Given the description of an element on the screen output the (x, y) to click on. 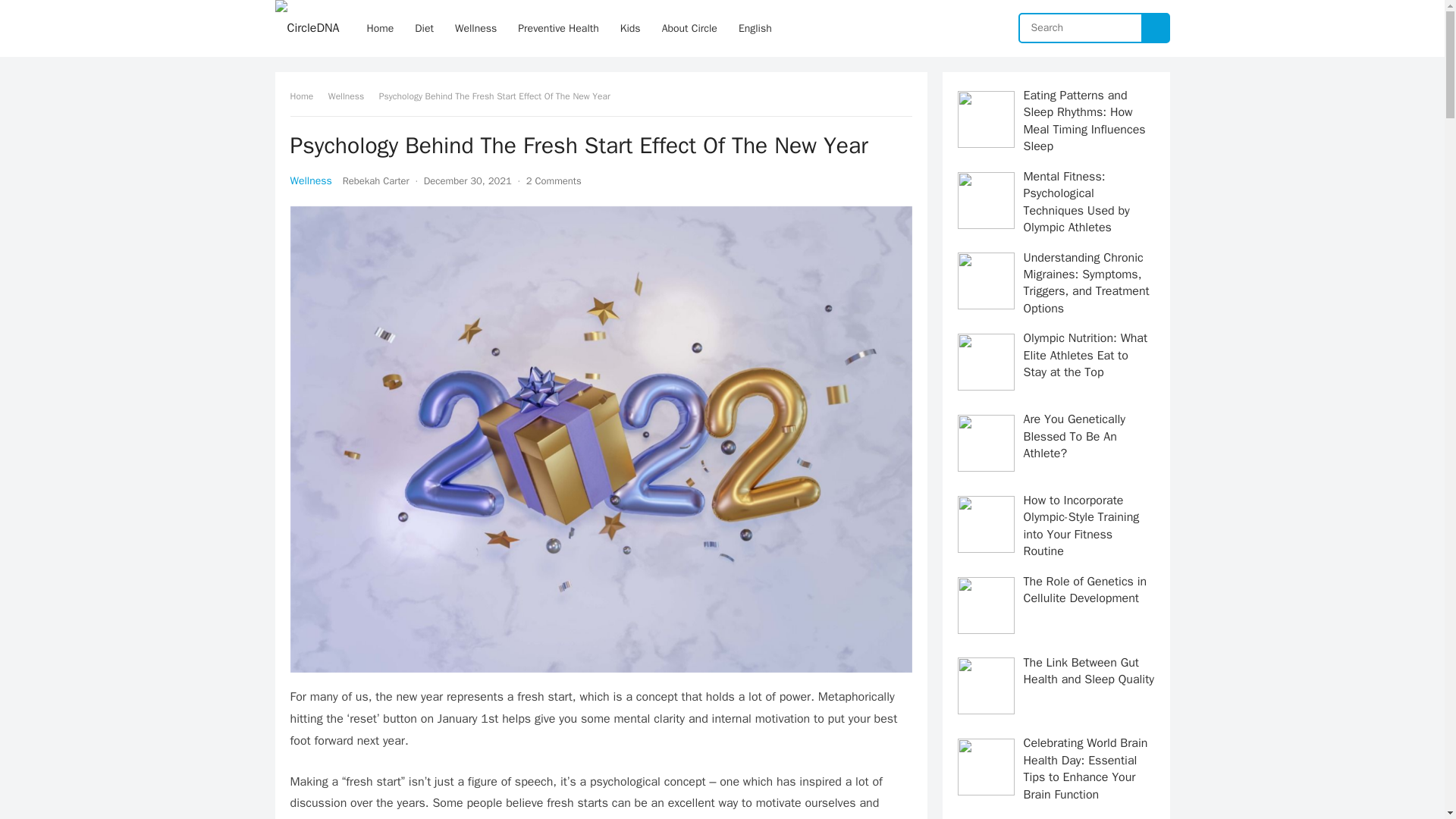
Wellness (475, 28)
Wellness (351, 96)
English (754, 28)
About Circle (689, 28)
Posts by Rebekah Carter (375, 180)
Wellness (310, 180)
Home (306, 96)
Rebekah Carter (375, 180)
Preventive Health (558, 28)
